Given the description of an element on the screen output the (x, y) to click on. 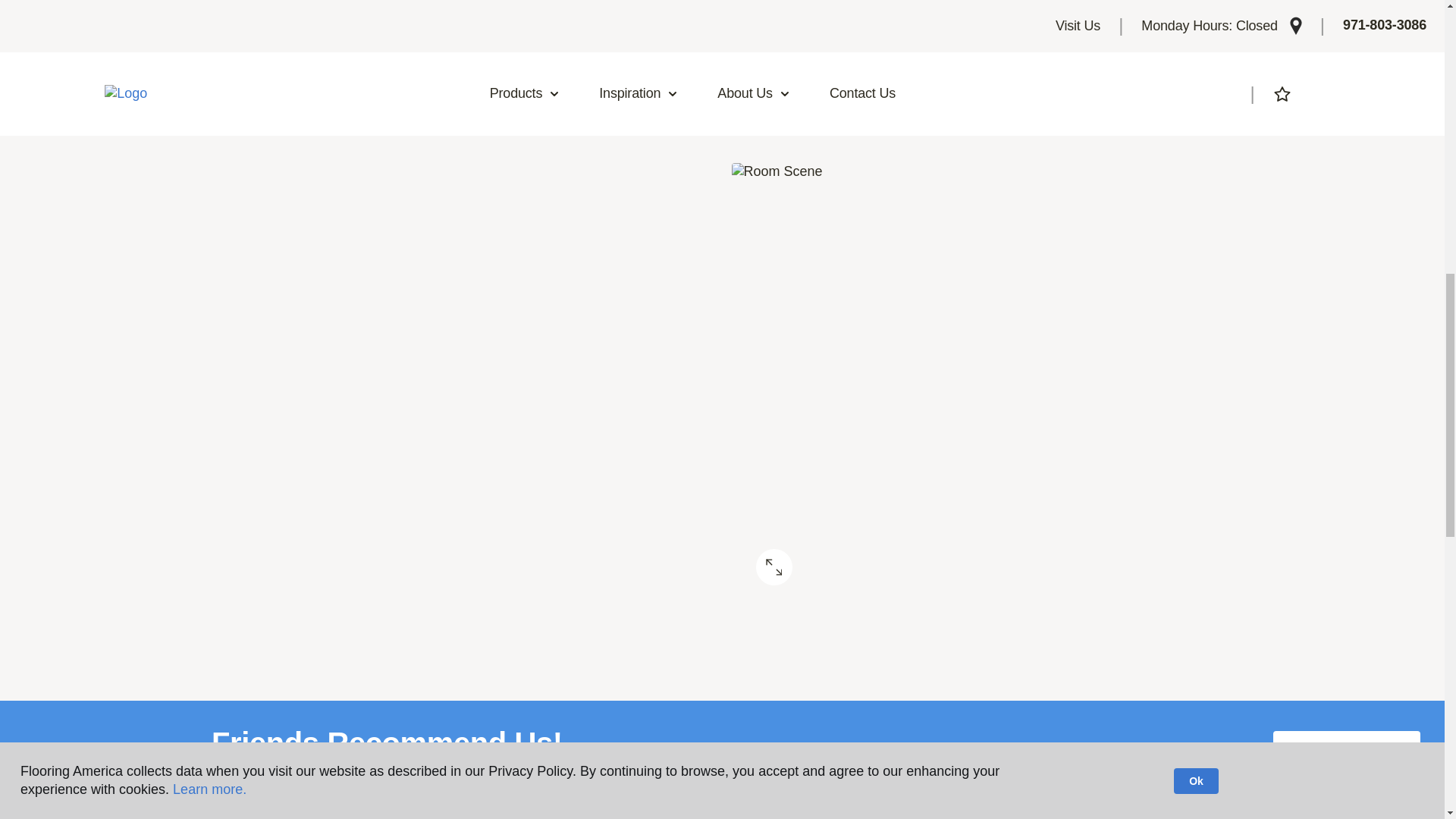
Zoom Swatch (773, 566)
